Given the description of an element on the screen output the (x, y) to click on. 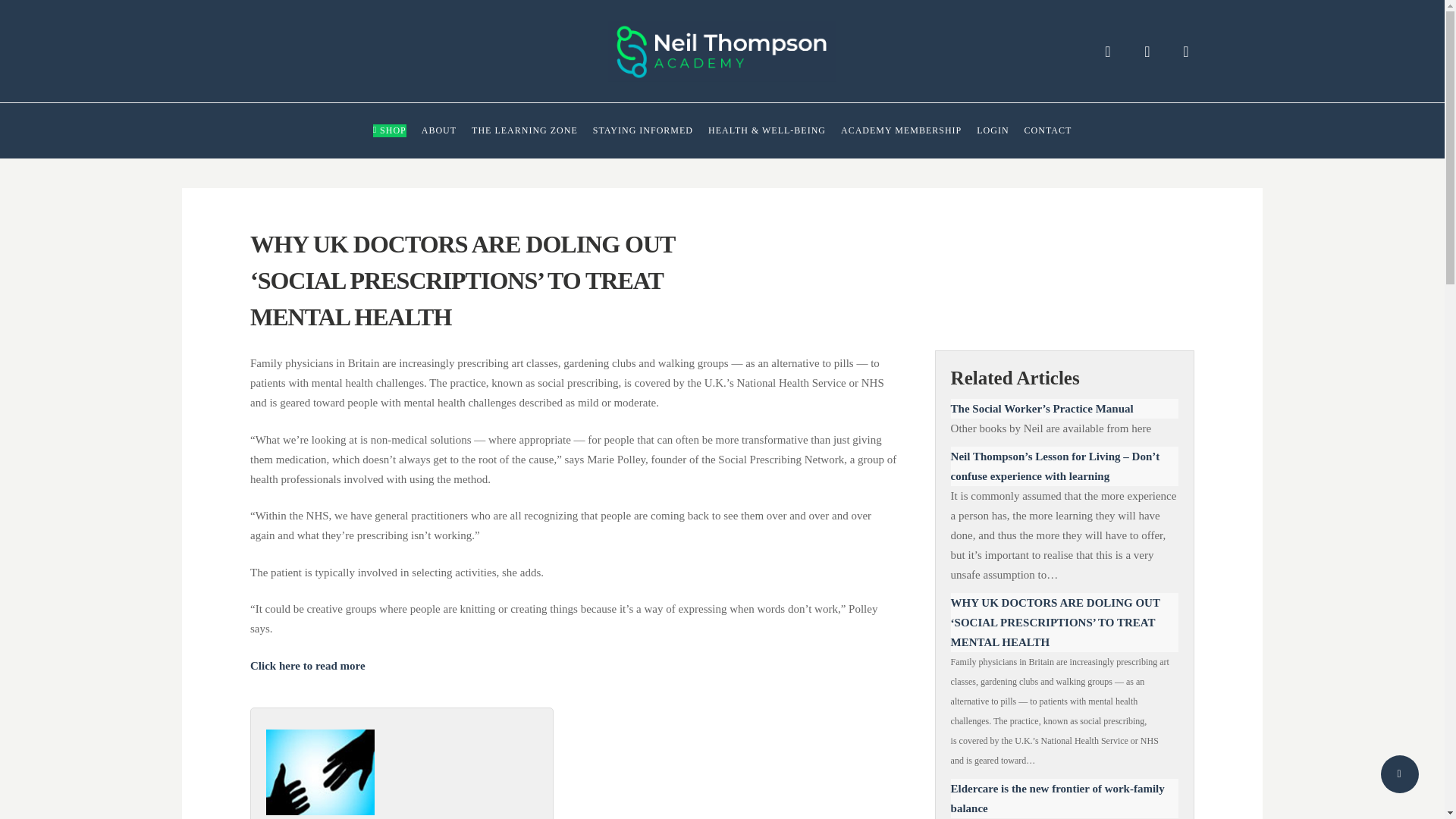
SHOP (389, 130)
Eldercare is the new frontier of work-family balance (1063, 798)
ABOUT (439, 130)
search (1107, 51)
THE LEARNING ZONE (524, 130)
account (1147, 51)
